Given the description of an element on the screen output the (x, y) to click on. 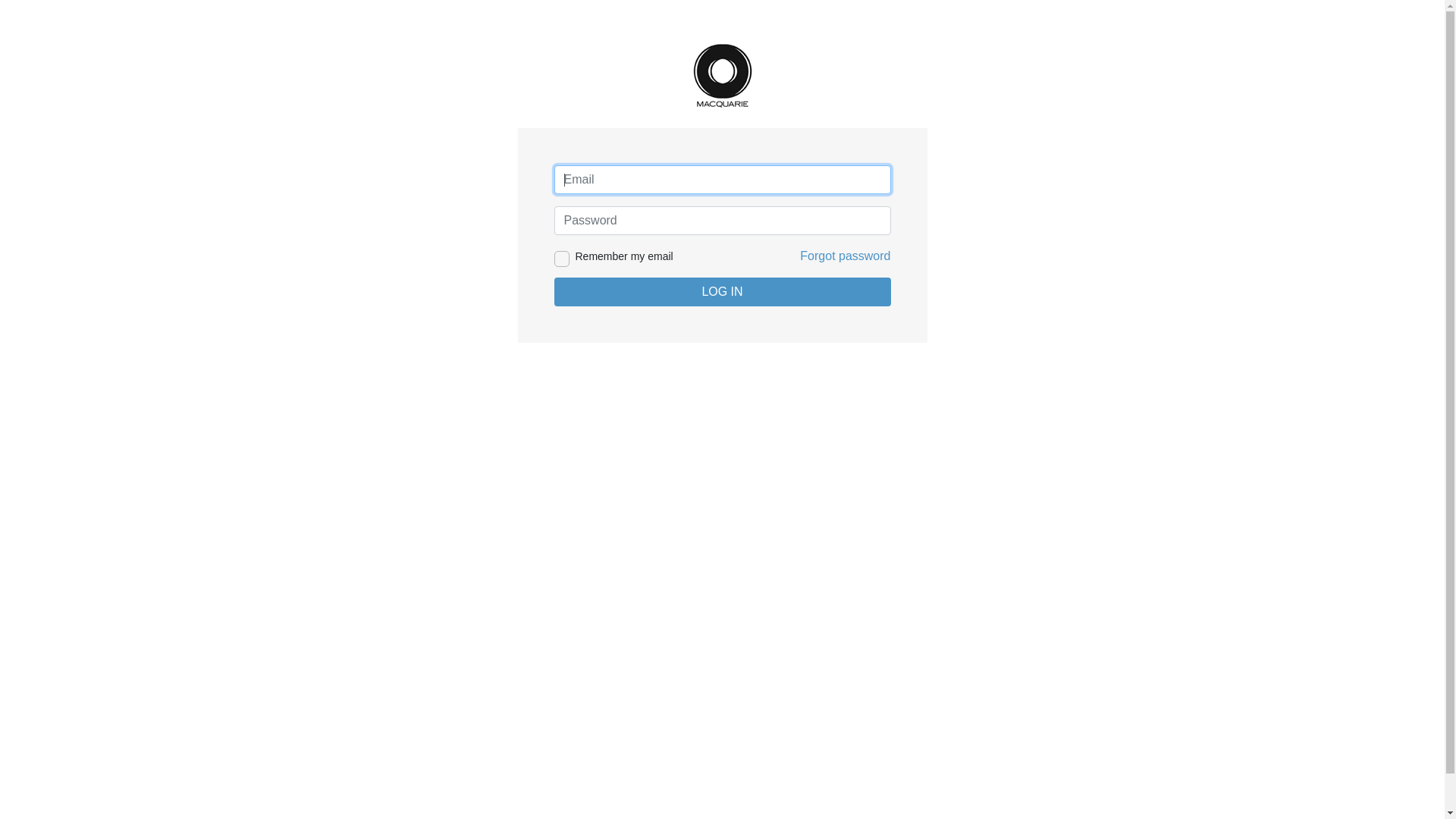
Forgot password Element type: text (845, 255)
LOG IN Element type: text (721, 291)
